Given the description of an element on the screen output the (x, y) to click on. 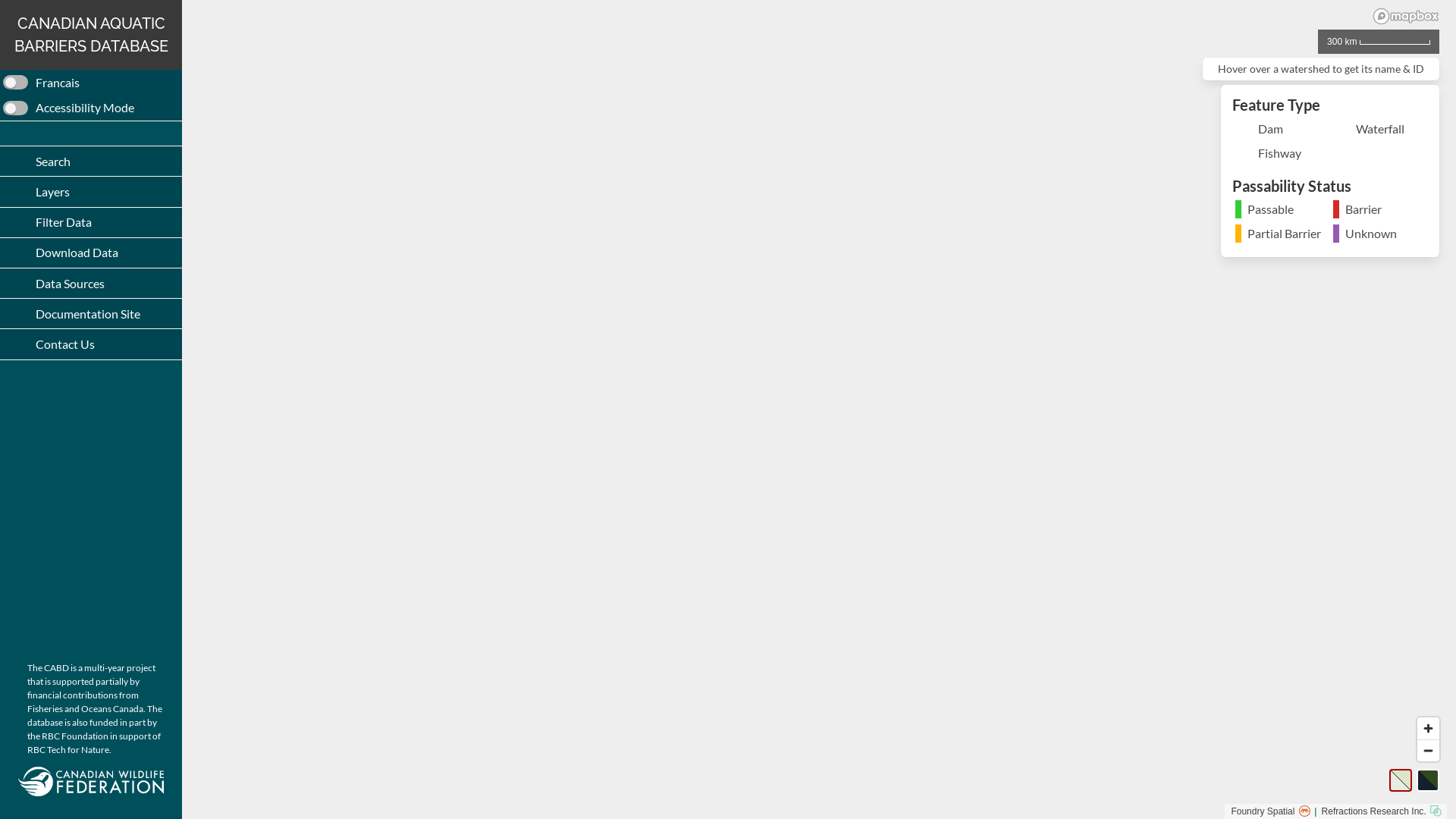
Documentation Site Element type: text (91, 313)
Zoom out Element type: hover (1428, 750)
Zoom in Element type: hover (1428, 728)
Data Sources Element type: text (91, 283)
Minimize map legend Element type: hover (1420, 103)
Contact Us Element type: text (91, 343)
